Given the description of an element on the screen output the (x, y) to click on. 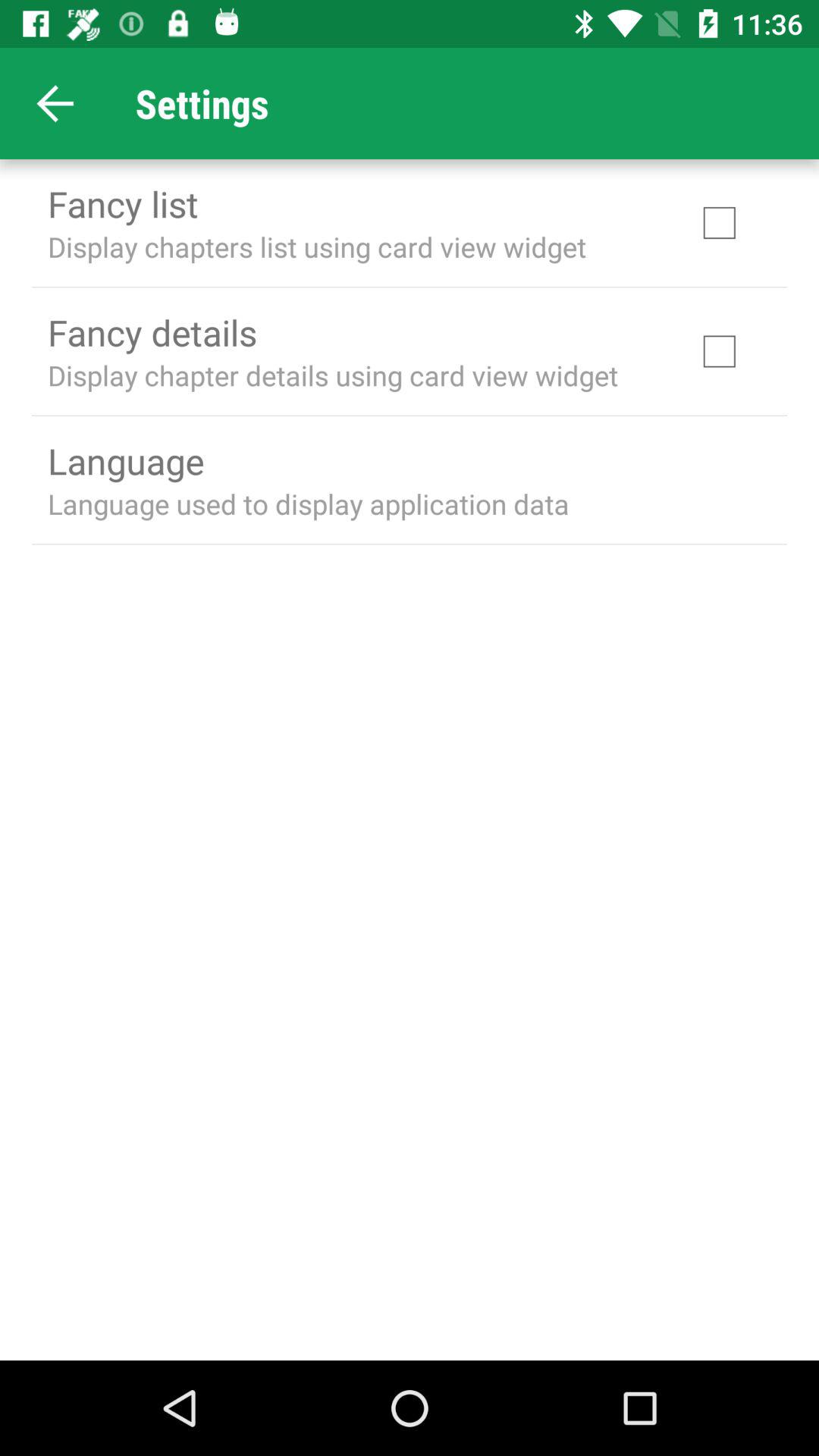
go to previous (55, 103)
